Given the description of an element on the screen output the (x, y) to click on. 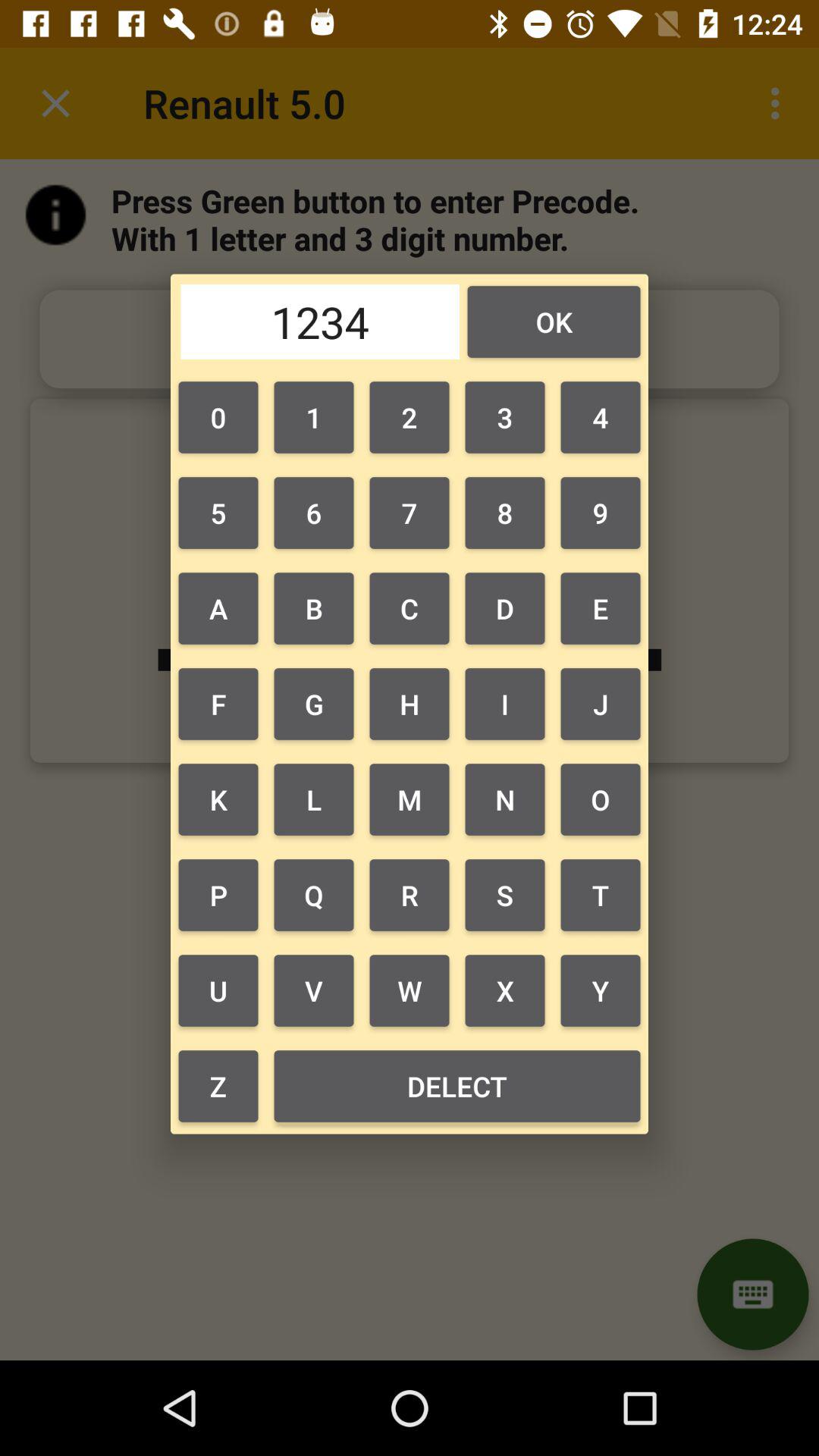
press button next to h item (313, 799)
